Given the description of an element on the screen output the (x, y) to click on. 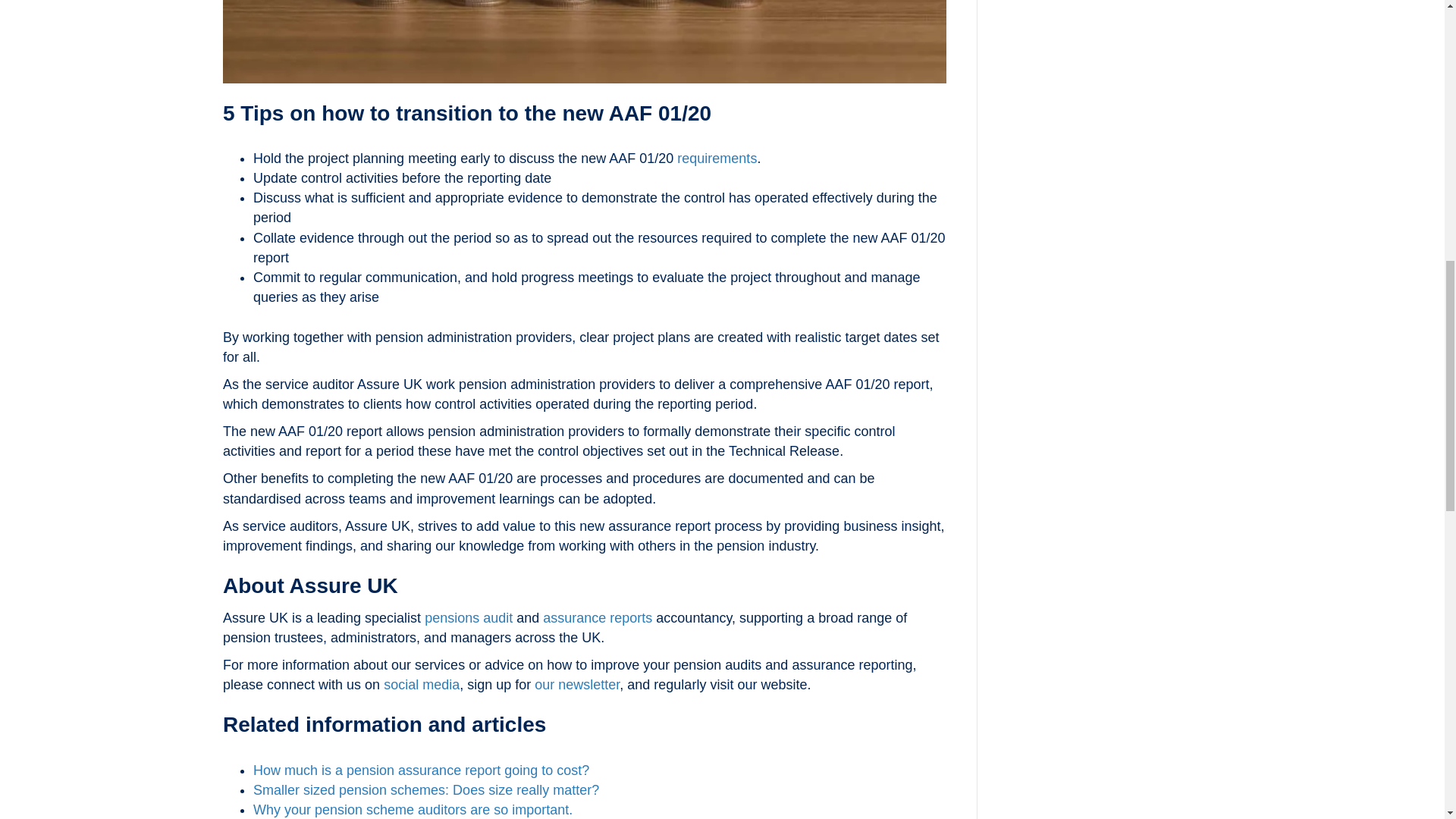
our newsletter (577, 684)
requirements (717, 158)
Smaller sized pension schemes: Does size really matter? (425, 789)
social media (422, 684)
assurance reports (597, 617)
Why your pension scheme auditors are so important. (412, 809)
How much is a pension assurance report going to cost? (421, 770)
pensions audit (468, 617)
